Given the description of an element on the screen output the (x, y) to click on. 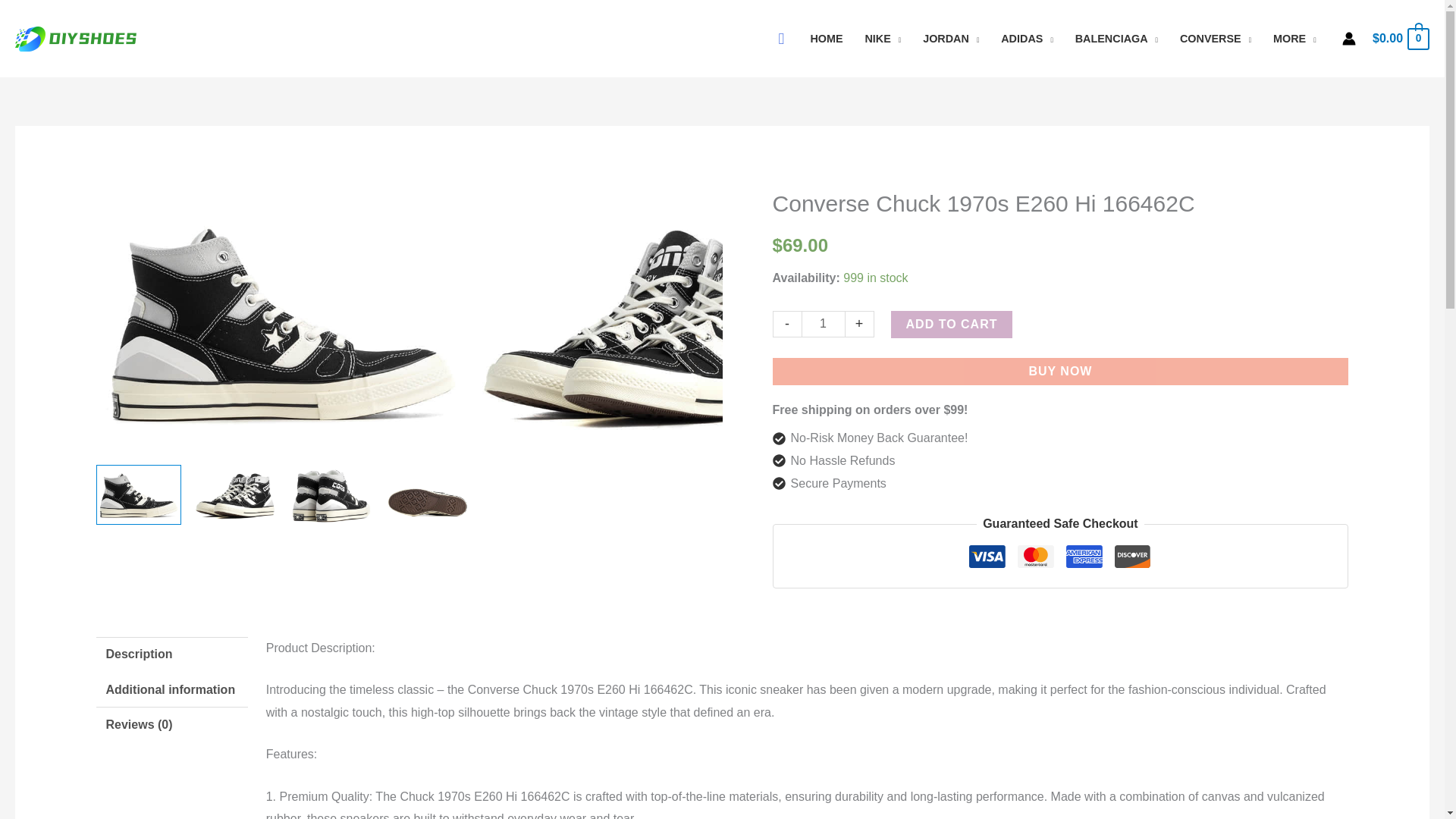
JORDAN (951, 38)
ADIDAS (1027, 38)
1 (823, 324)
NIKE (882, 38)
HOME (826, 38)
